Given the description of an element on the screen output the (x, y) to click on. 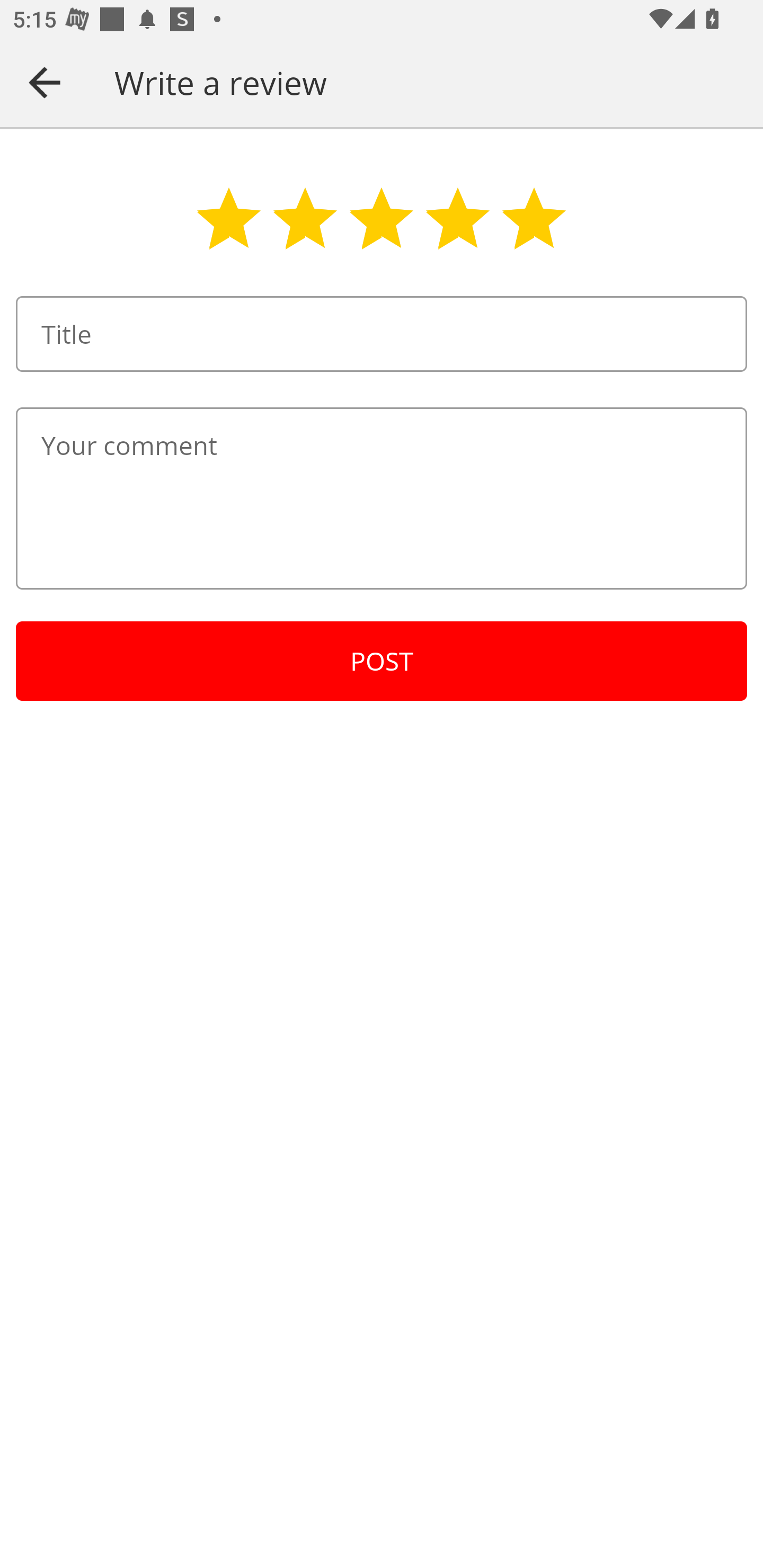
Navigate up (44, 82)
Title (381, 333)
Your comment (381, 498)
POST (381, 660)
